Given the description of an element on the screen output the (x, y) to click on. 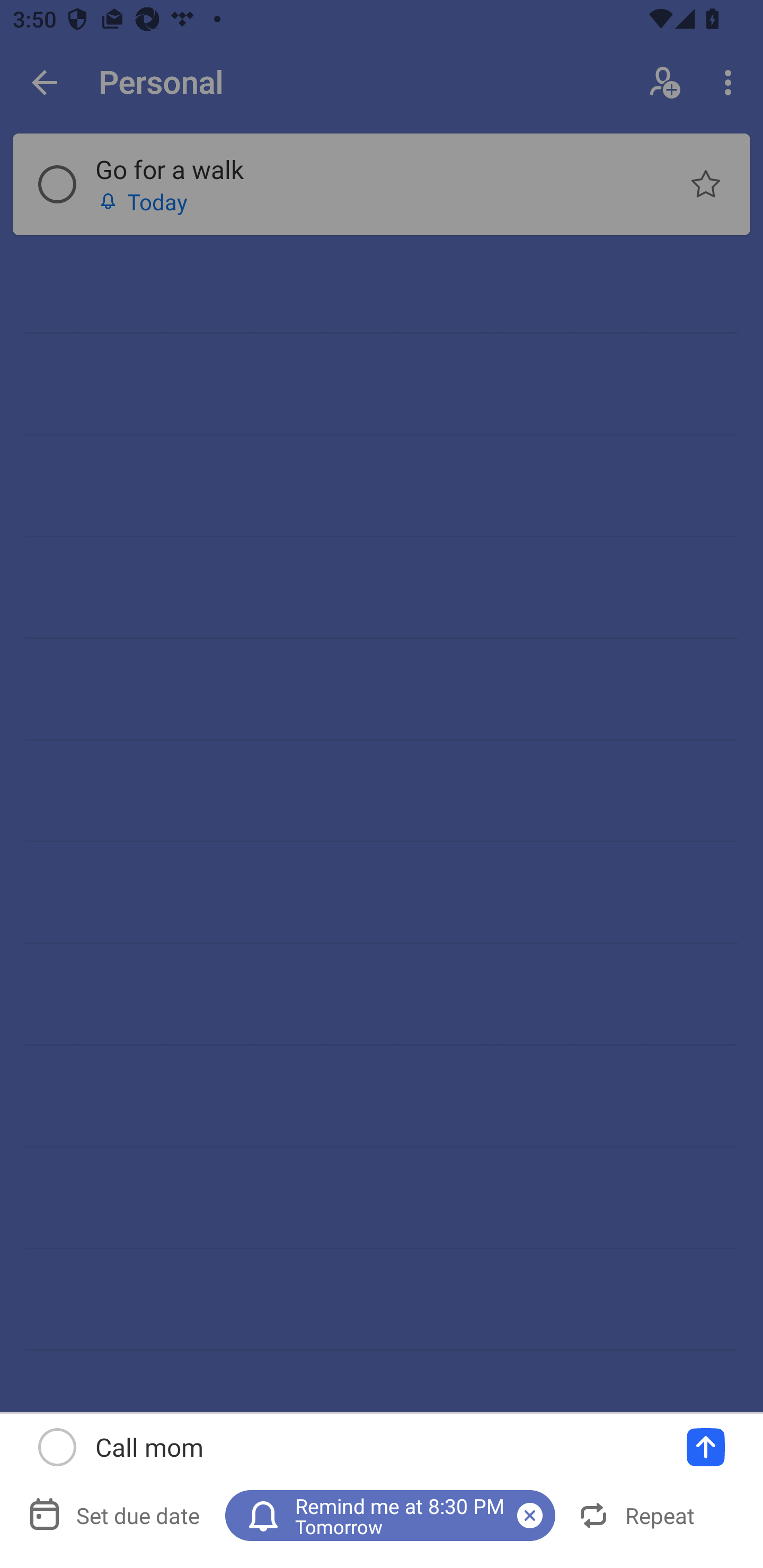
Add a task (705, 1446)
